Given the description of an element on the screen output the (x, y) to click on. 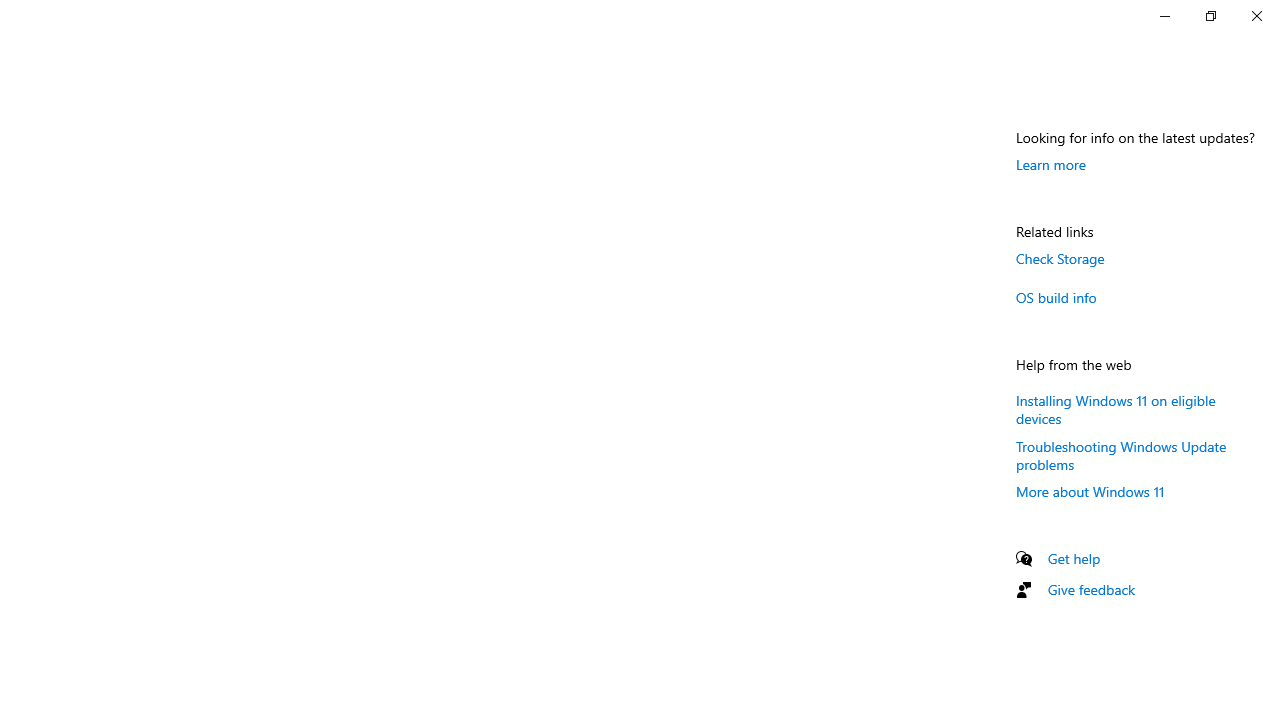
Minimize Settings (1164, 15)
Close Settings (1256, 15)
Give feedback (1091, 589)
Learn more (1051, 164)
Installing Windows 11 on eligible devices (1116, 408)
Check Storage (1060, 258)
OS build info (1056, 297)
Get help (1074, 558)
Troubleshooting Windows Update problems (1121, 454)
Restore Settings (1210, 15)
More about Windows 11 (1090, 491)
